Given the description of an element on the screen output the (x, y) to click on. 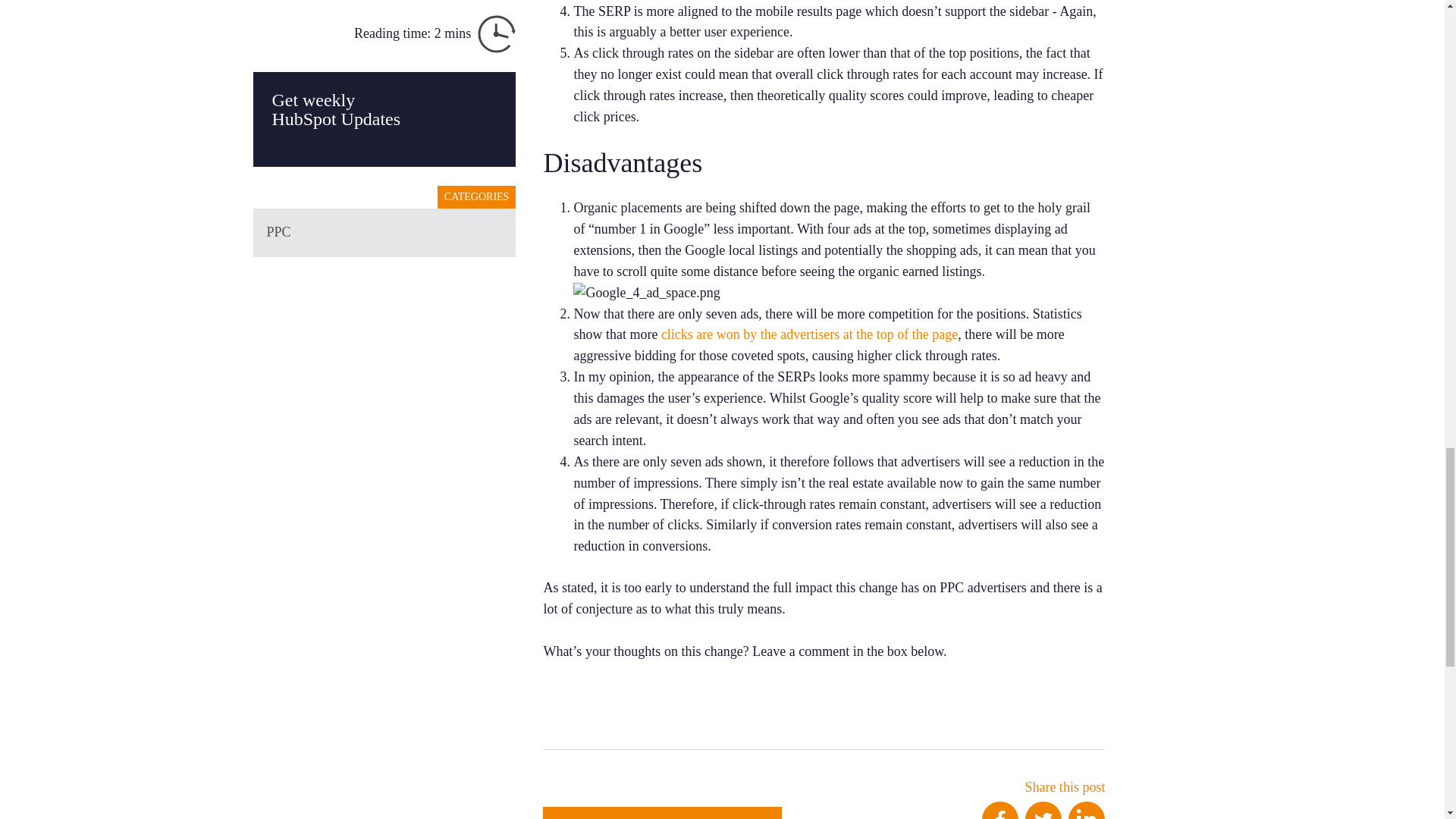
Twitter (1043, 810)
Home (662, 812)
Facebook (999, 810)
LinkedIn (1086, 810)
clicks are won by the advertisers at the top of the page (809, 334)
